Given the description of an element on the screen output the (x, y) to click on. 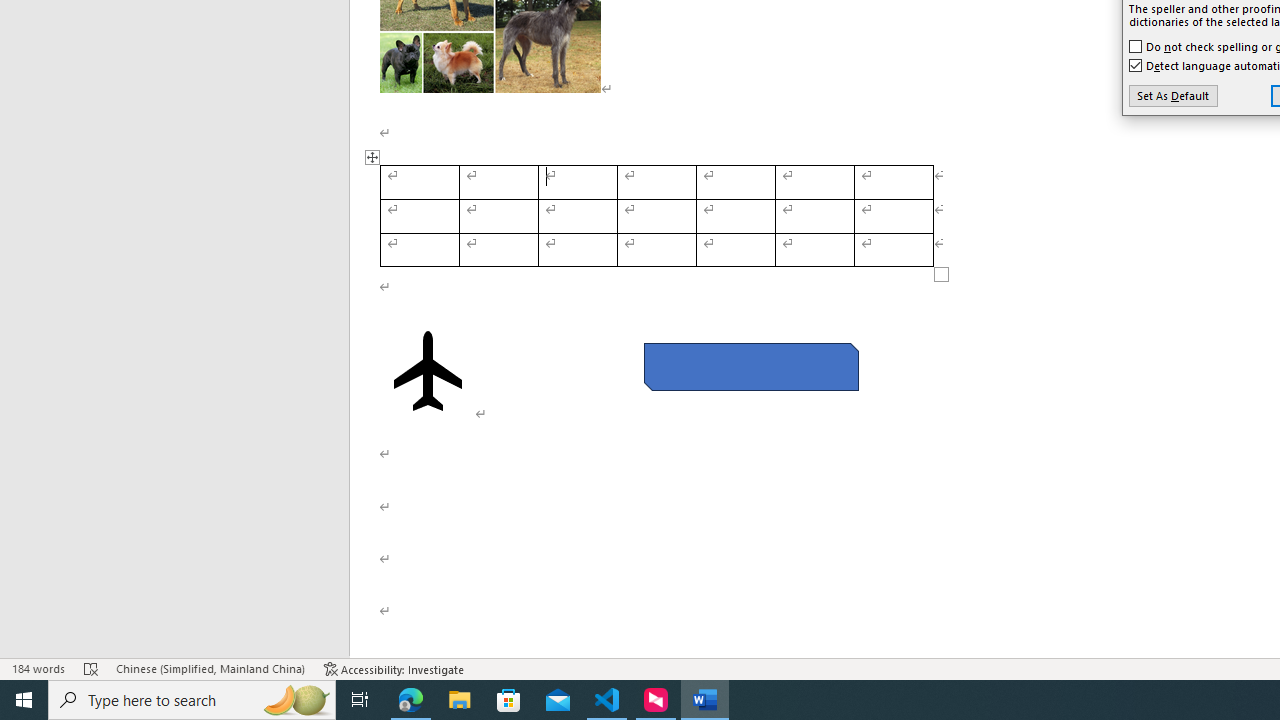
Task View (359, 699)
Spelling and Grammar Check Errors (91, 668)
Airplane with solid fill (428, 371)
Rectangle: Diagonal Corners Snipped 2 (750, 366)
